Given the description of an element on the screen output the (x, y) to click on. 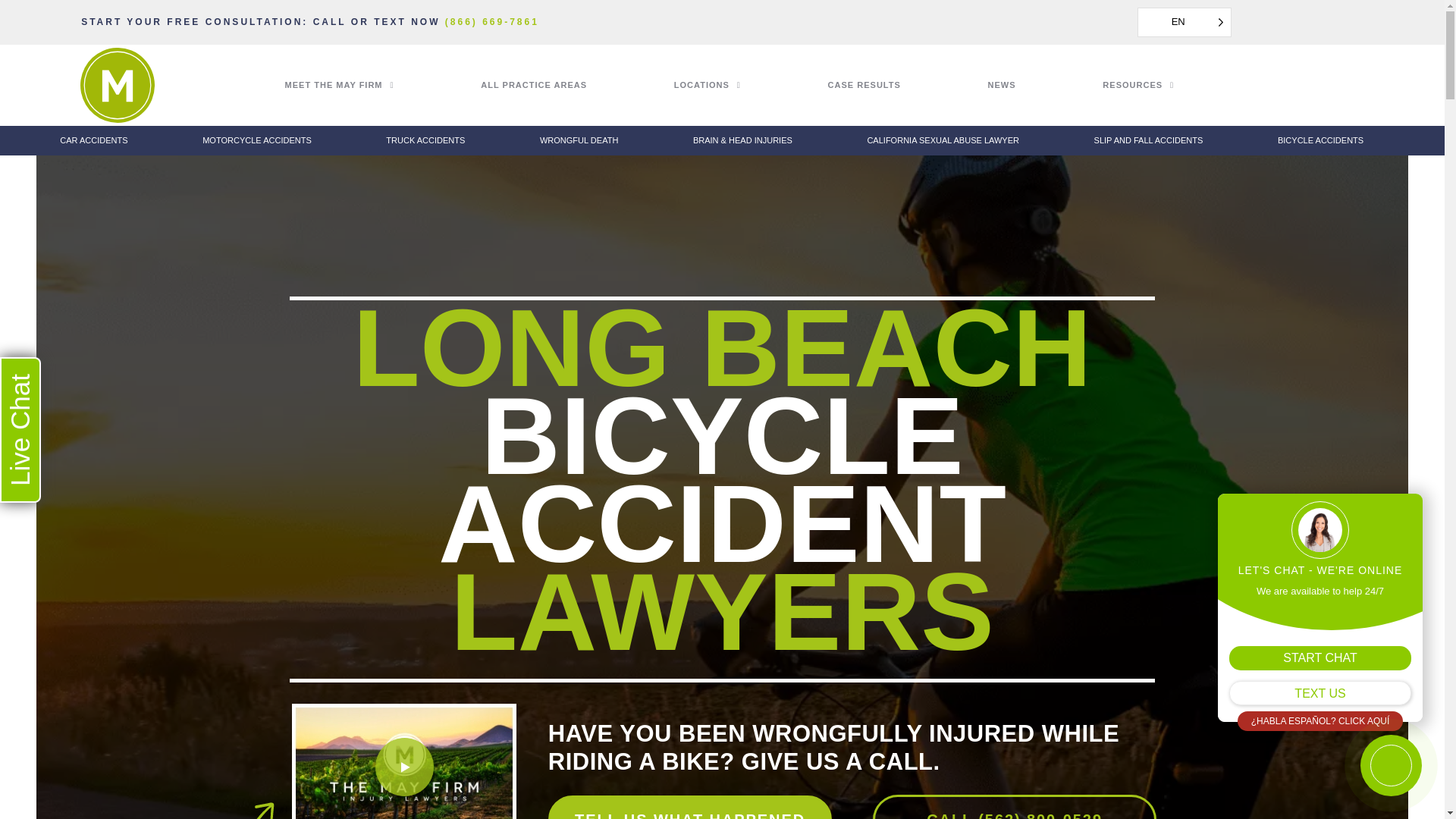
MEET THE MAY FIRM (383, 85)
CASE RESULTS (908, 85)
ALL PRACTICE AREAS (577, 85)
RESOURCES (1181, 85)
NEWS (1045, 85)
LOCATIONS (751, 85)
